Given the description of an element on the screen output the (x, y) to click on. 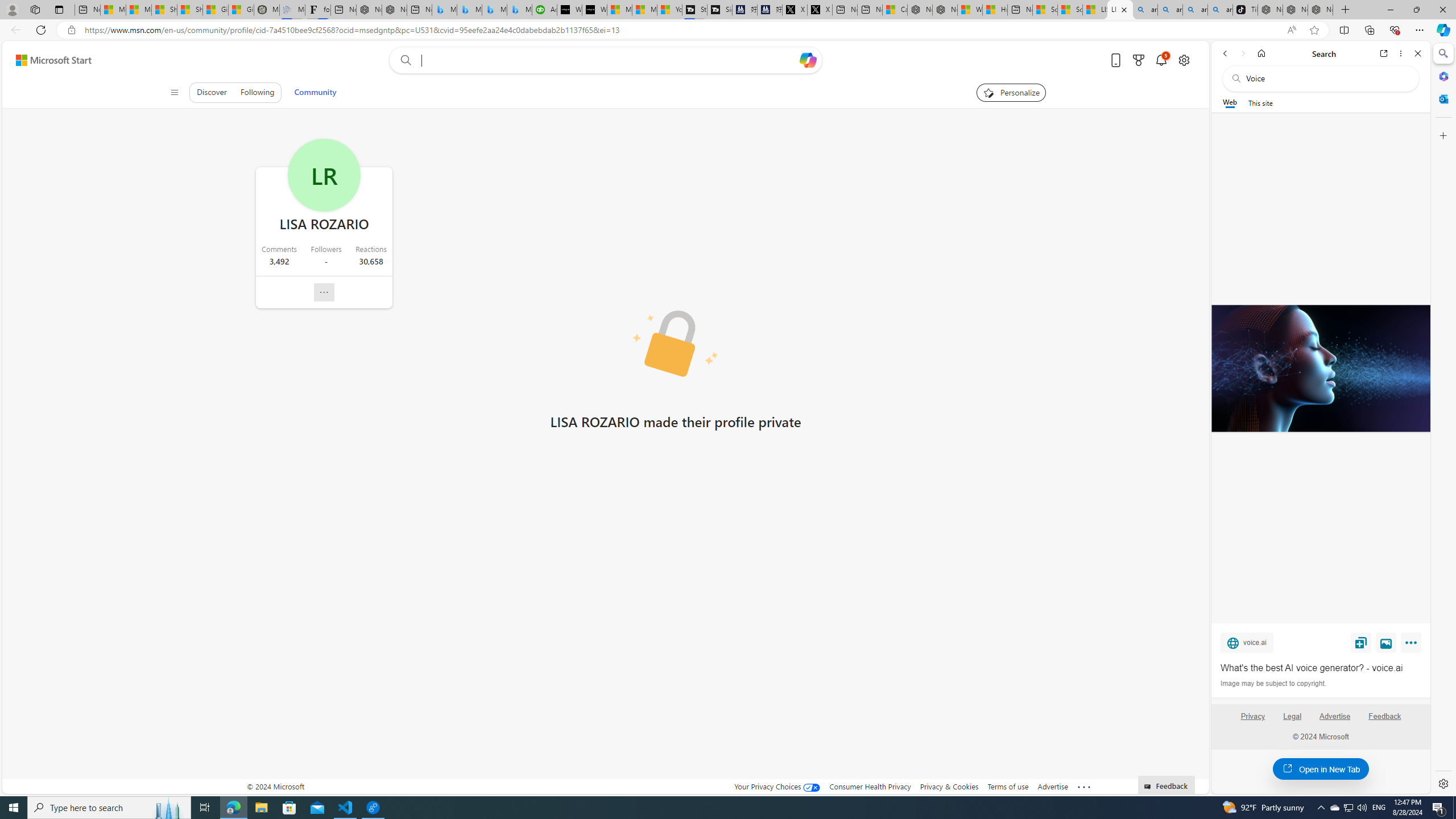
Microsoft Start Sports (619, 9)
Nordace - #1 Japanese Best-Seller - Siena Smart Backpack (394, 9)
Your Privacy Choices (777, 786)
What's the best AI voice generator? - voice.ai (1320, 368)
Microsoft 365 (1442, 76)
Consumer Health Privacy (870, 785)
Class: cwt-icon-vector (323, 291)
